Given the description of an element on the screen output the (x, y) to click on. 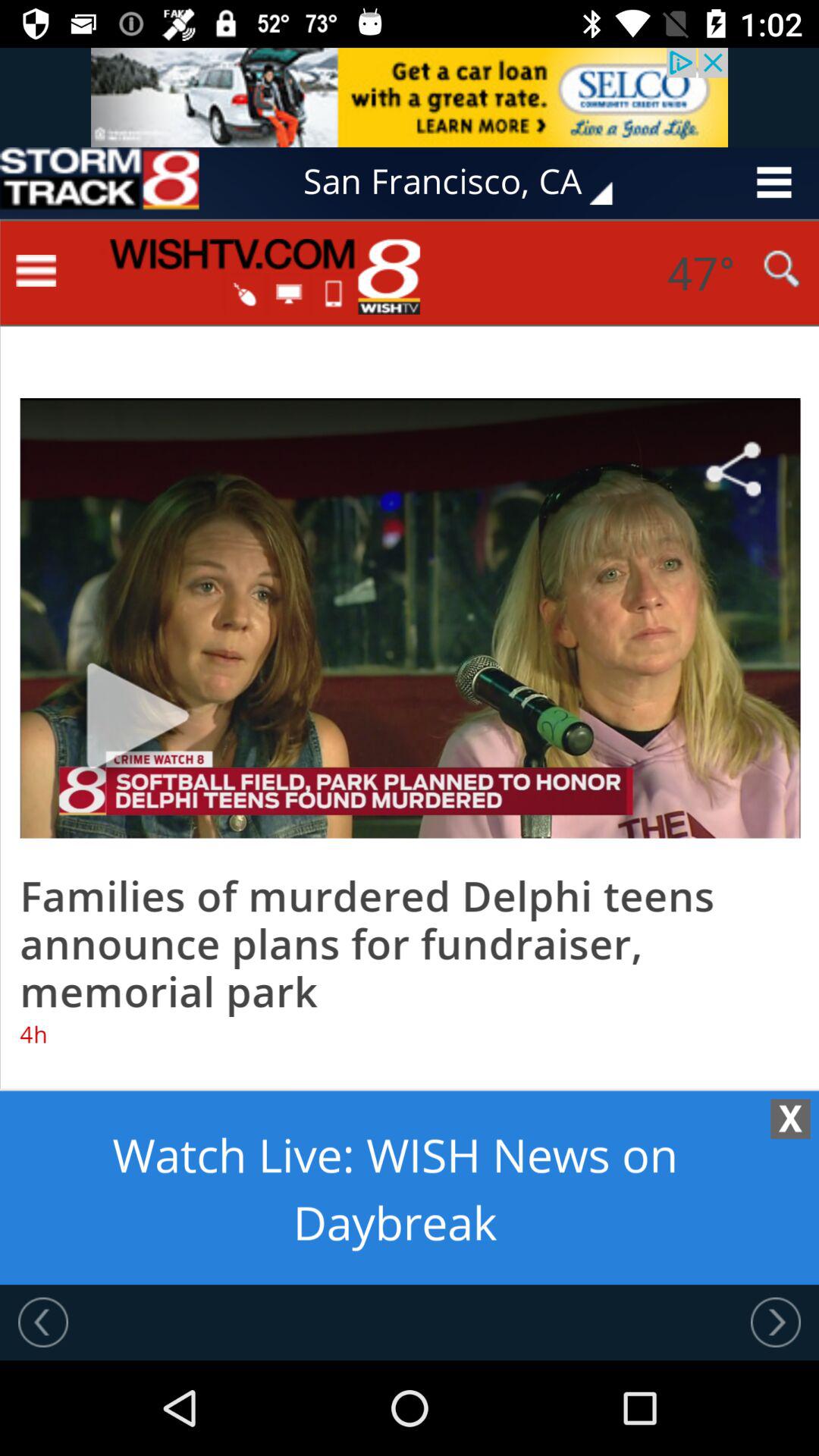
next option (775, 1322)
